Given the description of an element on the screen output the (x, y) to click on. 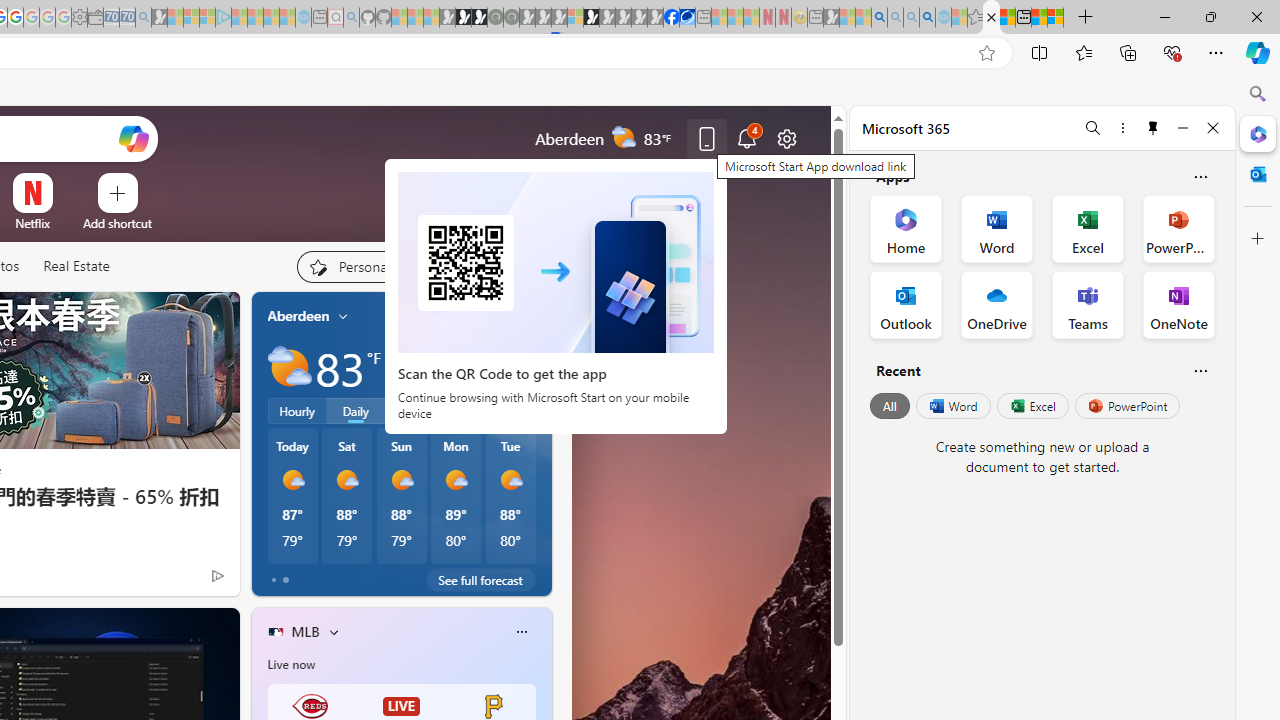
PowerPoint Office App (1178, 228)
Netflix (32, 223)
Future Focus Report 2024 - Sleeping (511, 17)
next (541, 443)
Nordace | Facebook (671, 17)
